Given the description of an element on the screen output the (x, y) to click on. 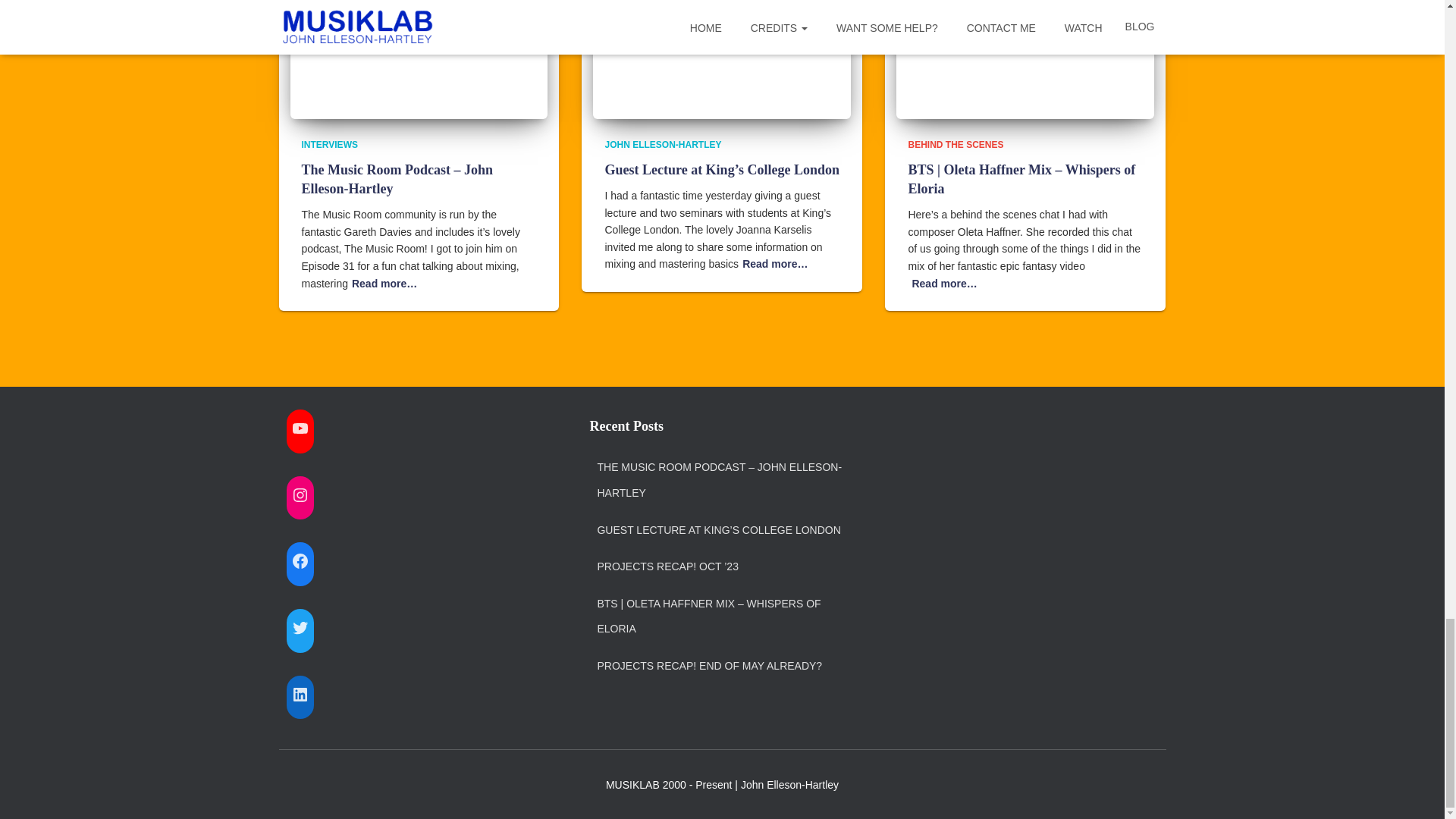
INTERVIEWS (329, 144)
BEHIND THE SCENES (955, 144)
JOHN ELLESON-HARTLEY (662, 144)
